Given the description of an element on the screen output the (x, y) to click on. 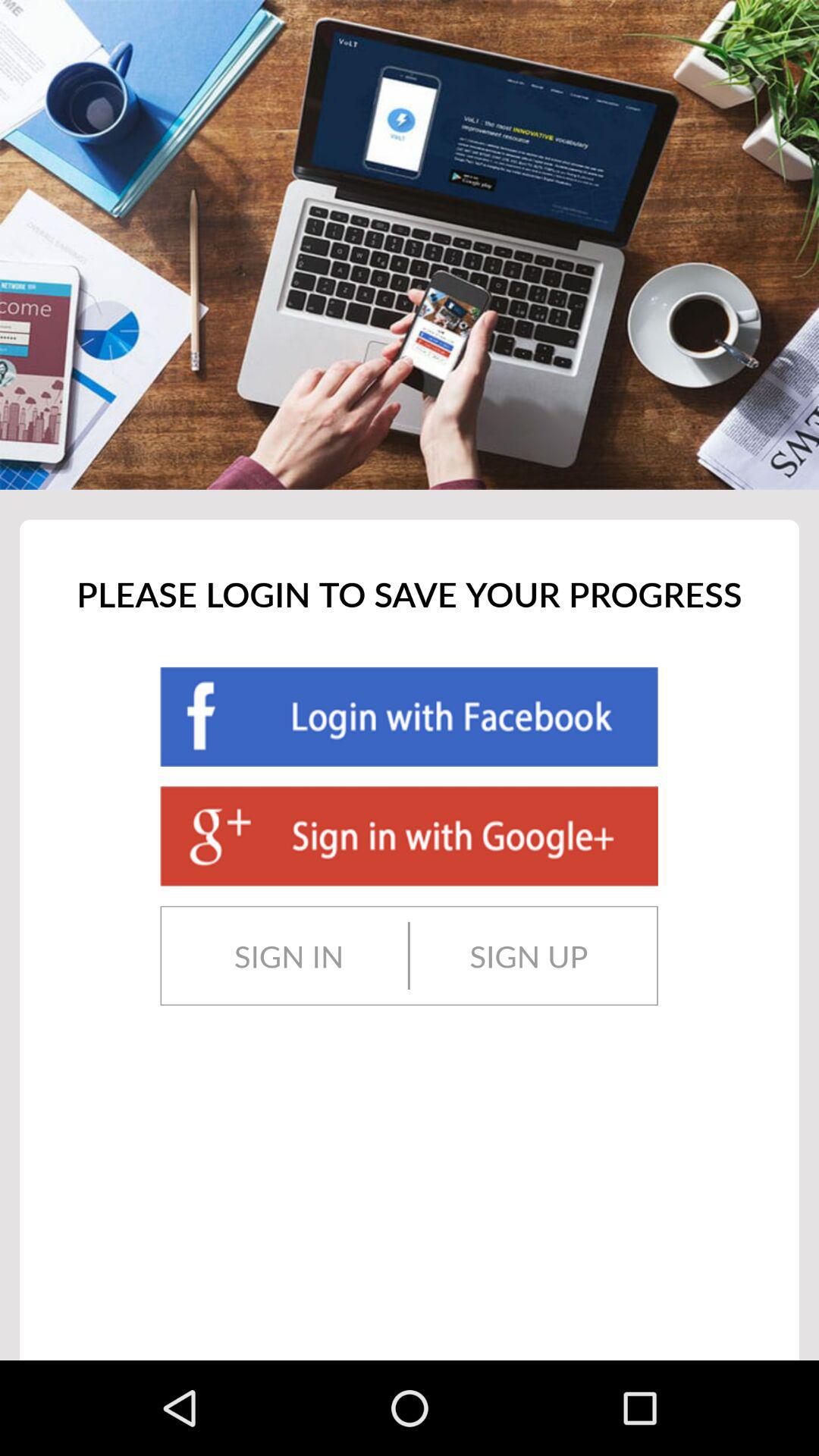
swipe to the sign up icon (529, 955)
